Given the description of an element on the screen output the (x, y) to click on. 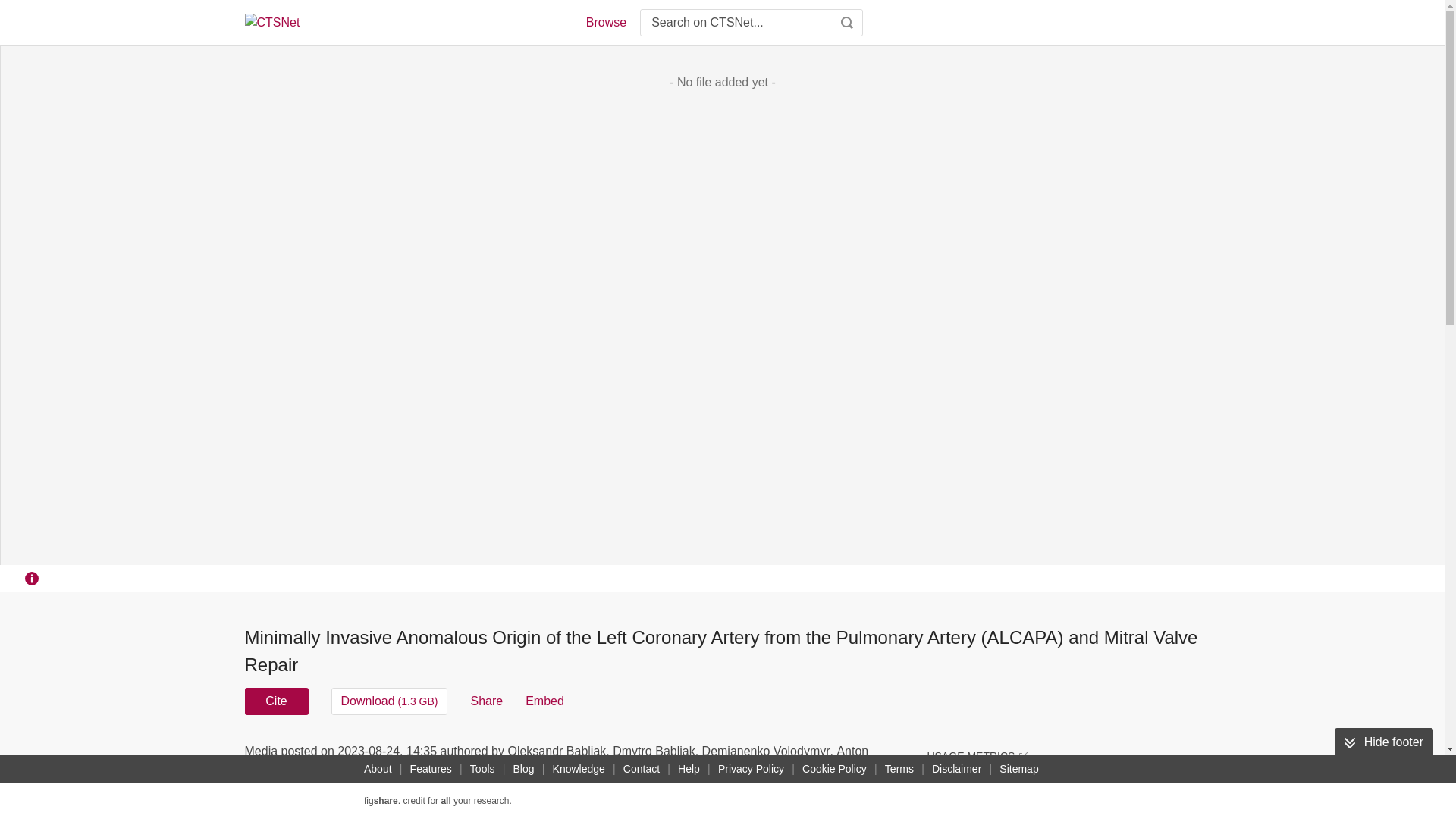
USAGE METRICS (976, 755)
About (377, 769)
Hide footer (1383, 742)
Help (688, 769)
Contact (640, 769)
Cookie Policy (833, 769)
Features (431, 769)
Privacy Policy (751, 769)
Embed (544, 700)
Tools (482, 769)
